Given the description of an element on the screen output the (x, y) to click on. 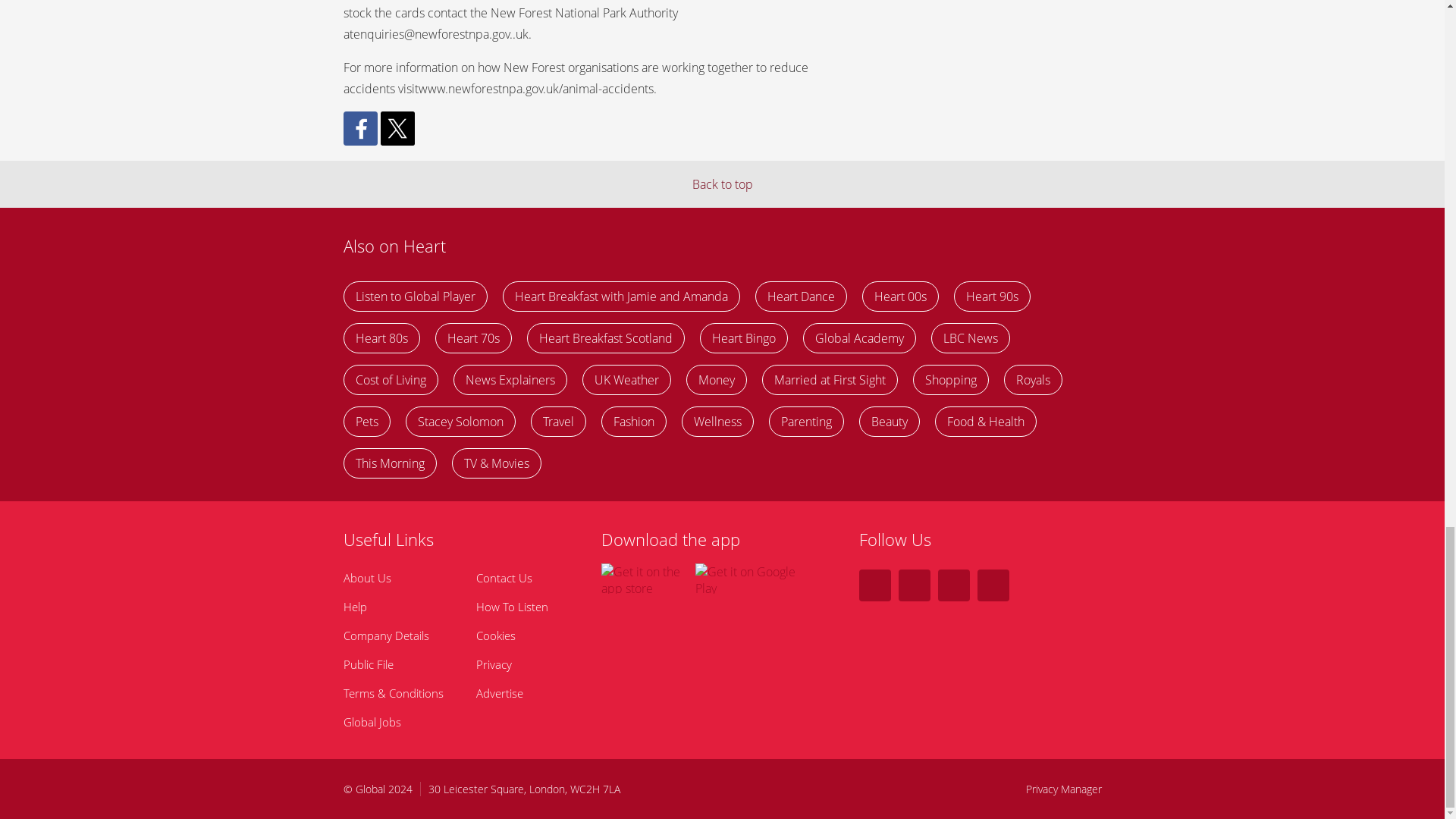
Follow Heart on Instagram (953, 585)
Follow Heart on X (874, 585)
Back to top (721, 184)
Follow Heart on Youtube (992, 585)
Follow Heart on Facebook (914, 585)
